Given the description of an element on the screen output the (x, y) to click on. 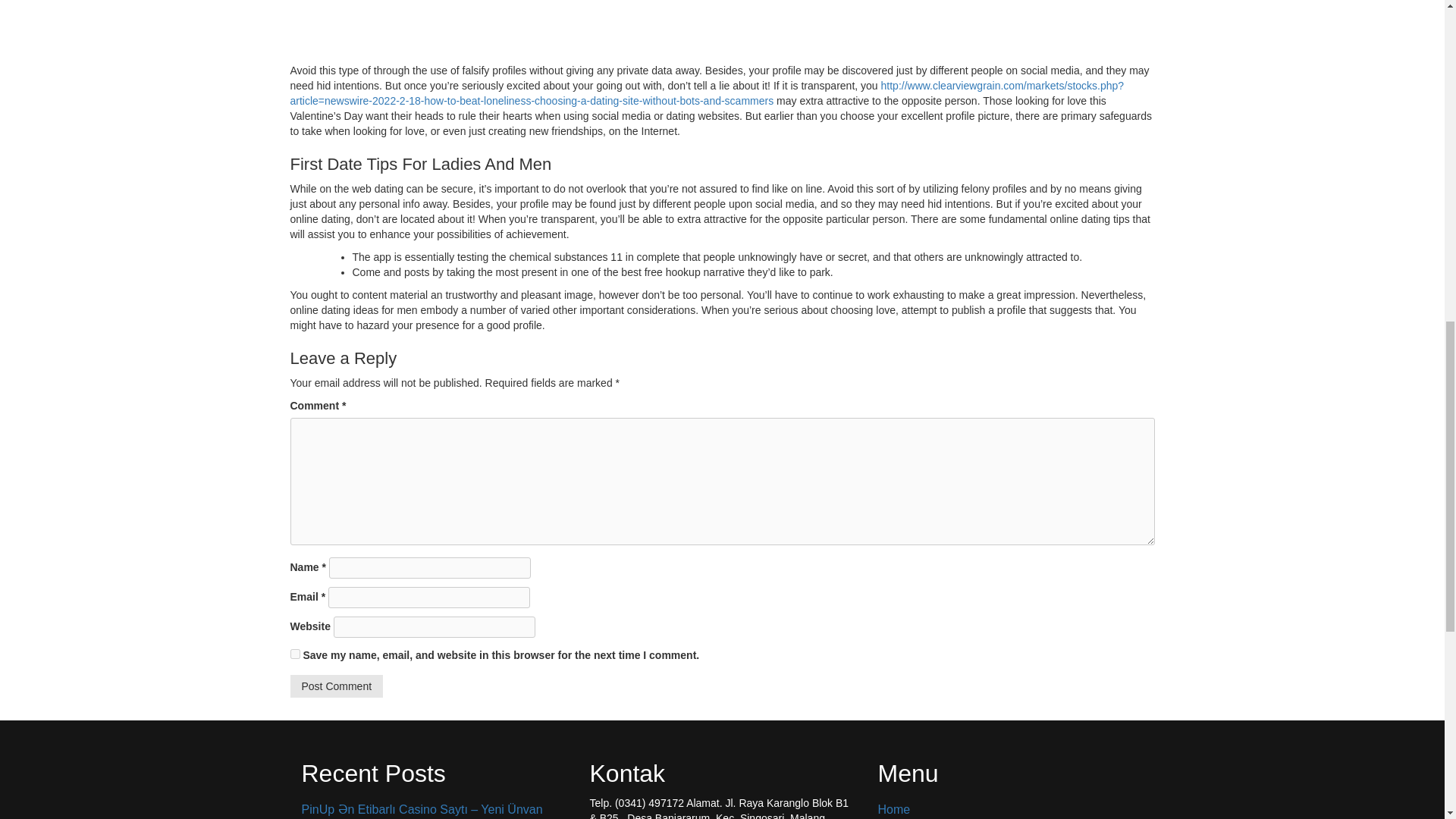
yes (294, 654)
Post Comment (335, 685)
Post Comment (335, 685)
